Given the description of an element on the screen output the (x, y) to click on. 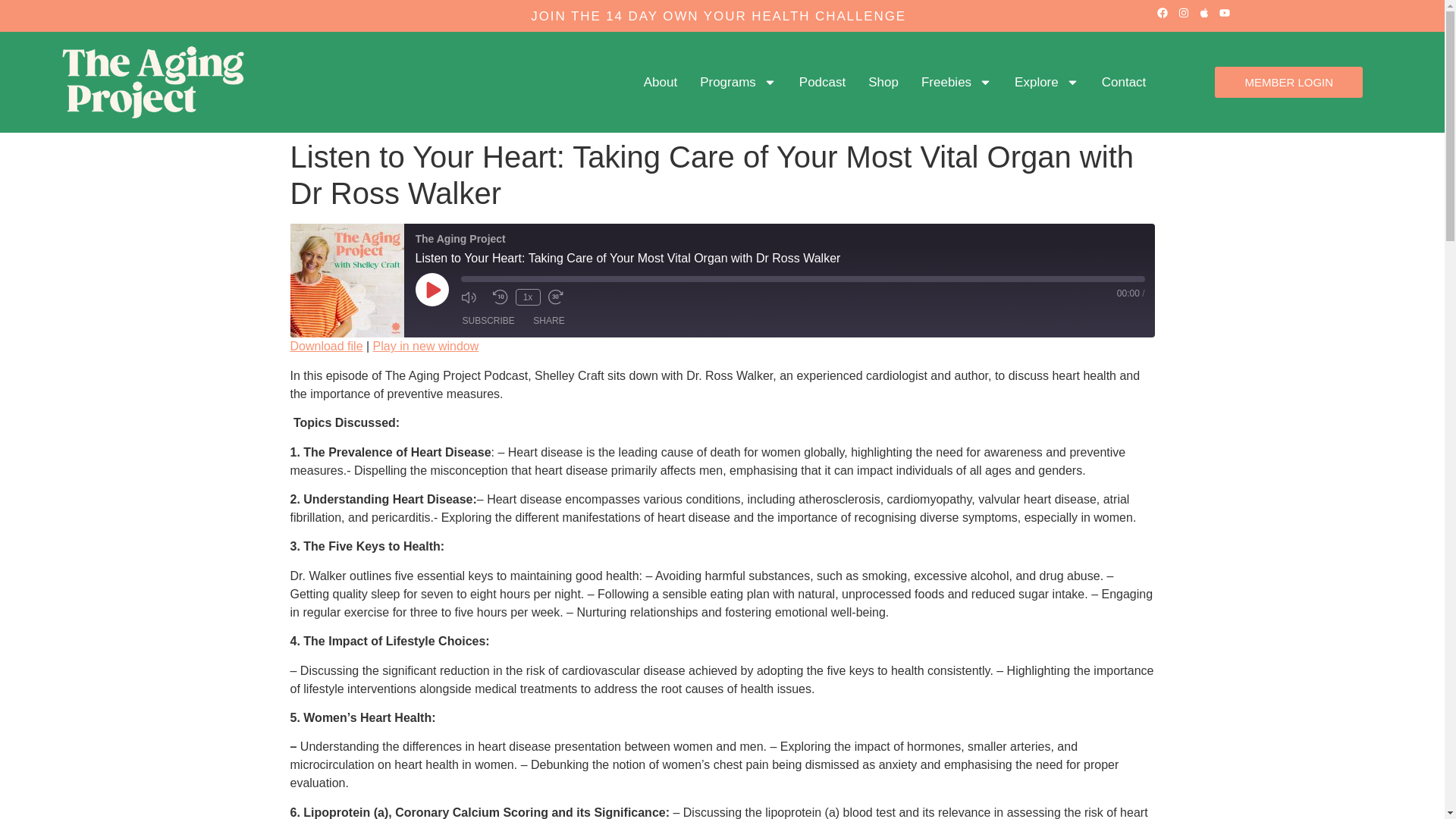
About (659, 82)
Subscribe (488, 321)
Freebies (956, 82)
MEMBER LOGIN (1288, 81)
Share (548, 321)
JOIN THE 14 DAY OWN YOUR HEALTH CHALLENGE (718, 16)
Programs (737, 82)
Rewind 10 seconds (500, 296)
Podcast (822, 82)
Play (431, 289)
Fast Forward 30 seconds (559, 296)
Explore (1046, 82)
The Aging Project  (346, 280)
Shop (883, 82)
